Given the description of an element on the screen output the (x, y) to click on. 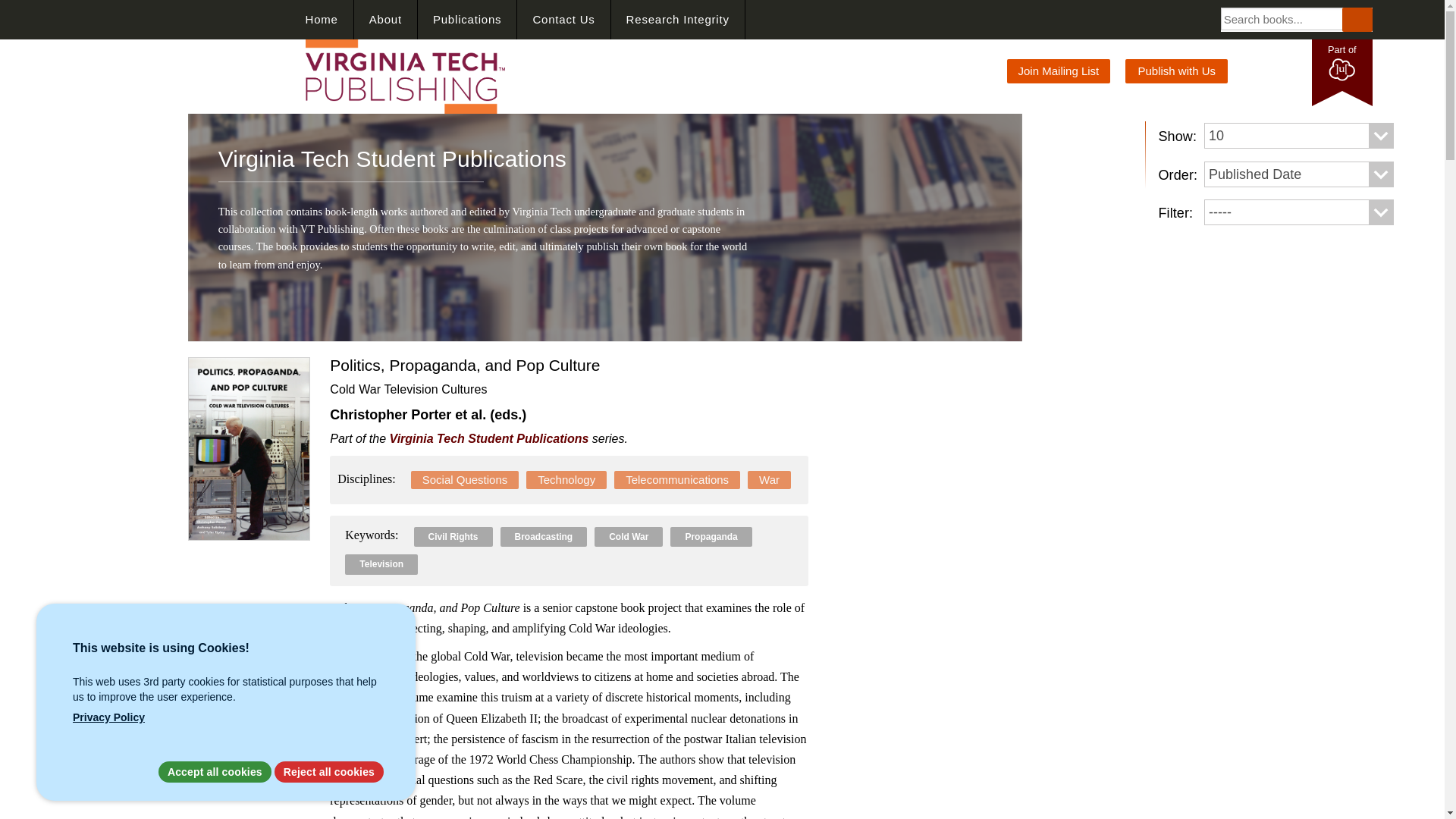
Telecommunications (676, 479)
Virginia Tech Student Publications (489, 438)
Cold War (627, 536)
War (769, 479)
Contact Us (563, 19)
Broadcasting (544, 536)
Technology (566, 479)
About (385, 19)
Home (321, 19)
Civil Rights (452, 536)
Television (380, 563)
Join Mailing List (1058, 70)
Social Questions (464, 479)
Research Integrity (678, 19)
Propaganda (710, 536)
